Given the description of an element on the screen output the (x, y) to click on. 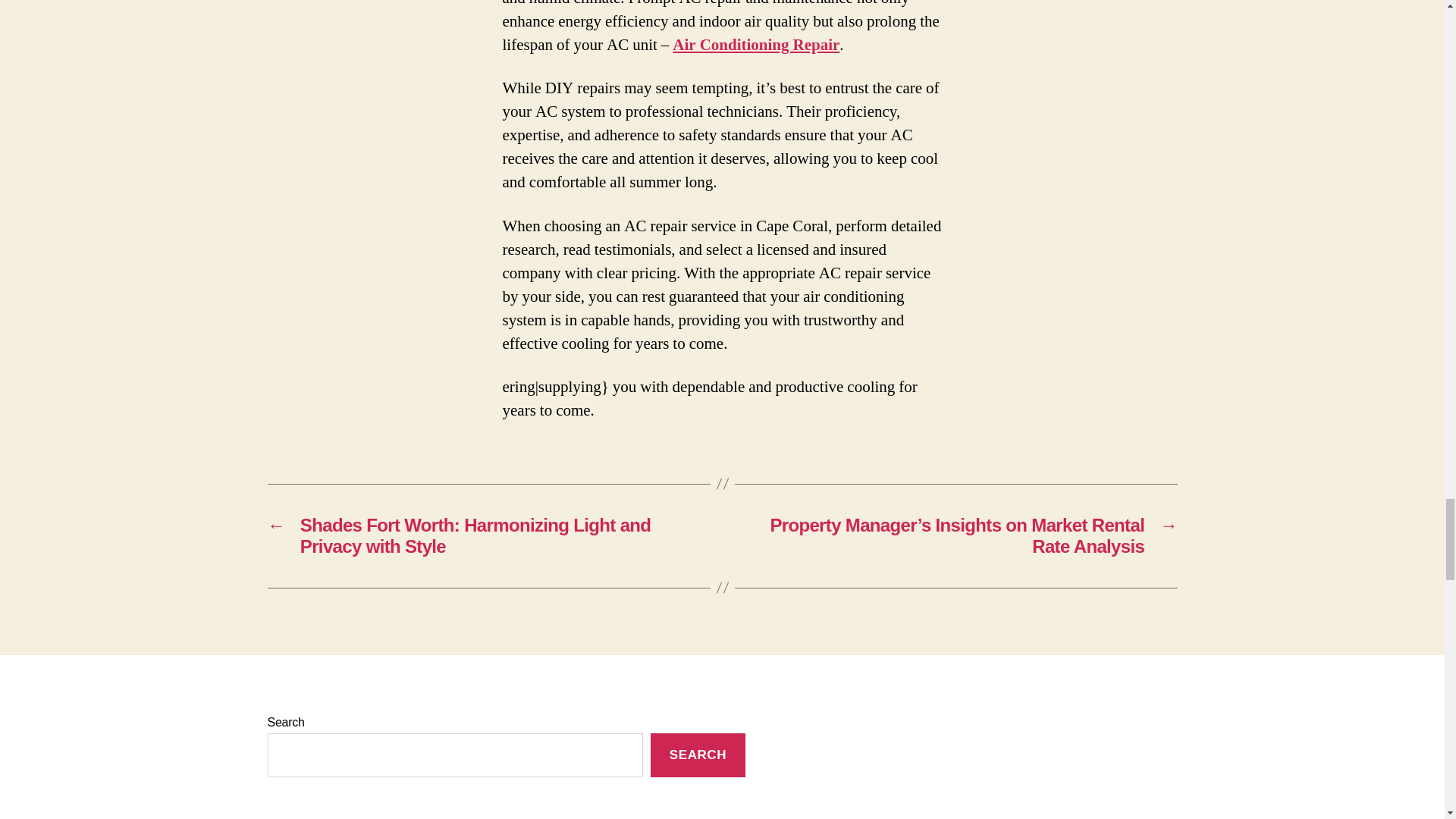
Air Conditioning Repair (756, 45)
SEARCH (697, 755)
